Given the description of an element on the screen output the (x, y) to click on. 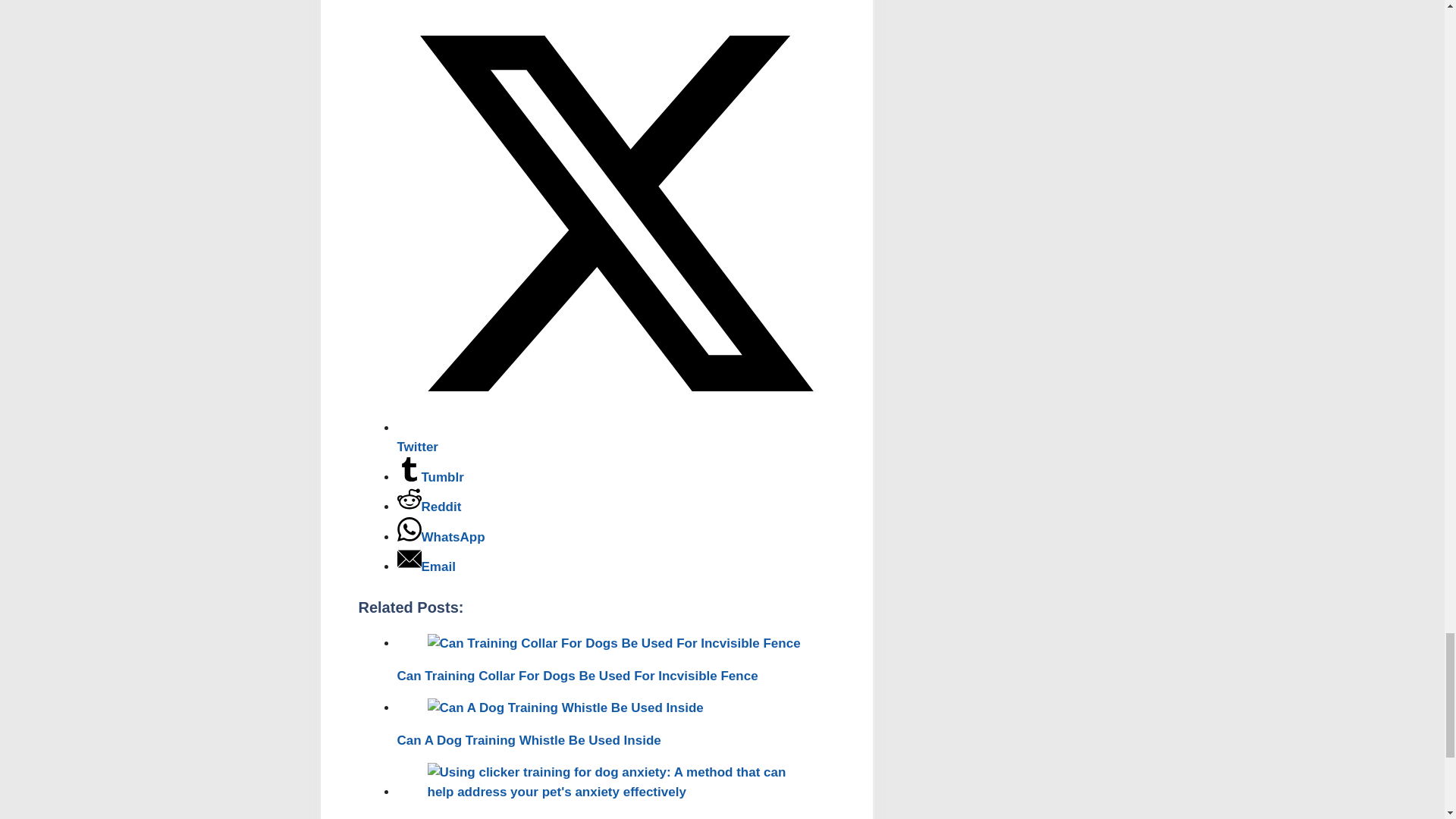
Share on Email (426, 566)
Share on Reddit (429, 506)
Share on Twitter (615, 437)
Share on WhatsApp (440, 536)
Share on Tumblr (430, 477)
